Given the description of an element on the screen output the (x, y) to click on. 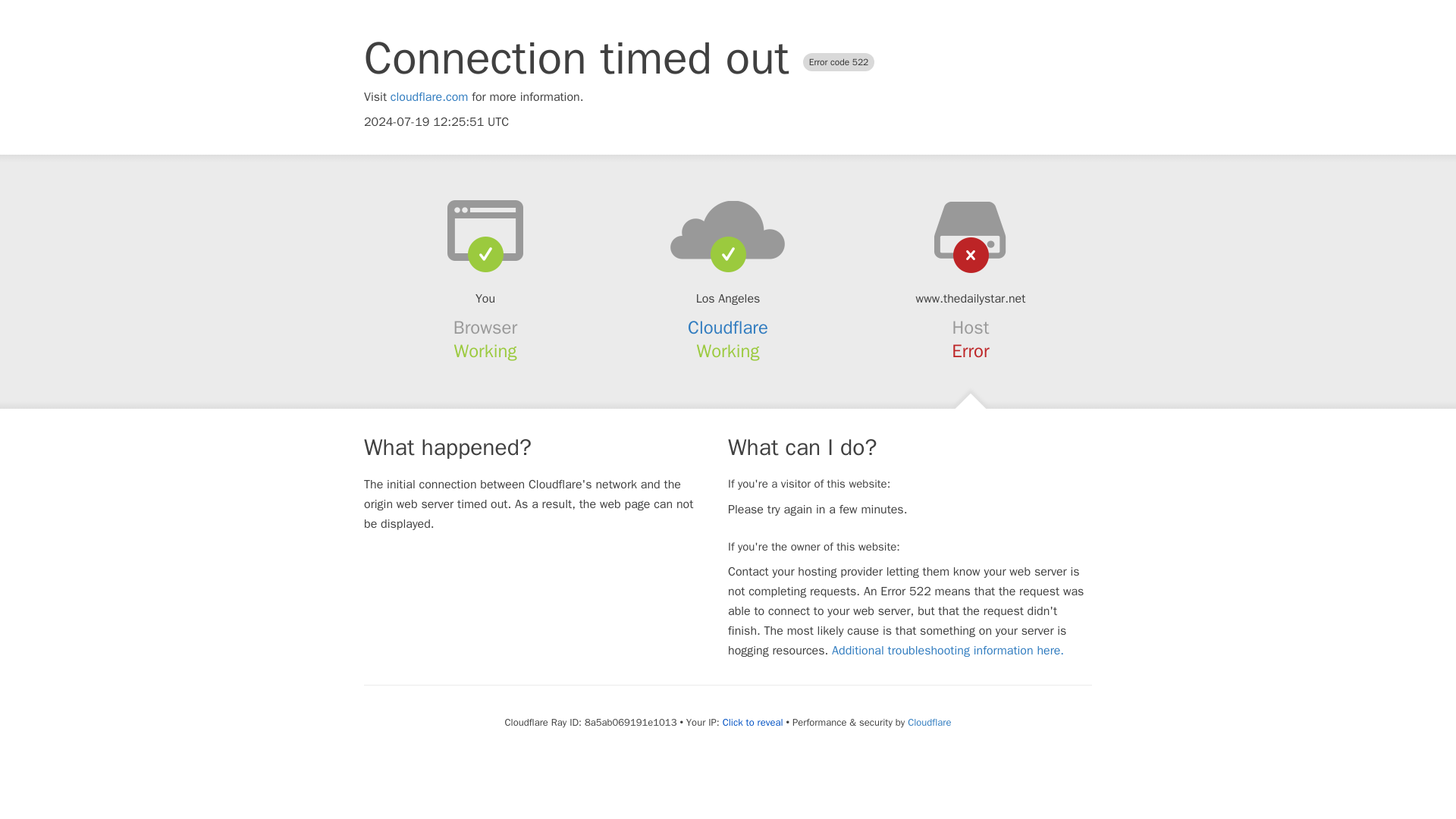
cloudflare.com (429, 96)
Cloudflare (727, 327)
Cloudflare (928, 721)
Click to reveal (752, 722)
Additional troubleshooting information here. (947, 650)
